Given the description of an element on the screen output the (x, y) to click on. 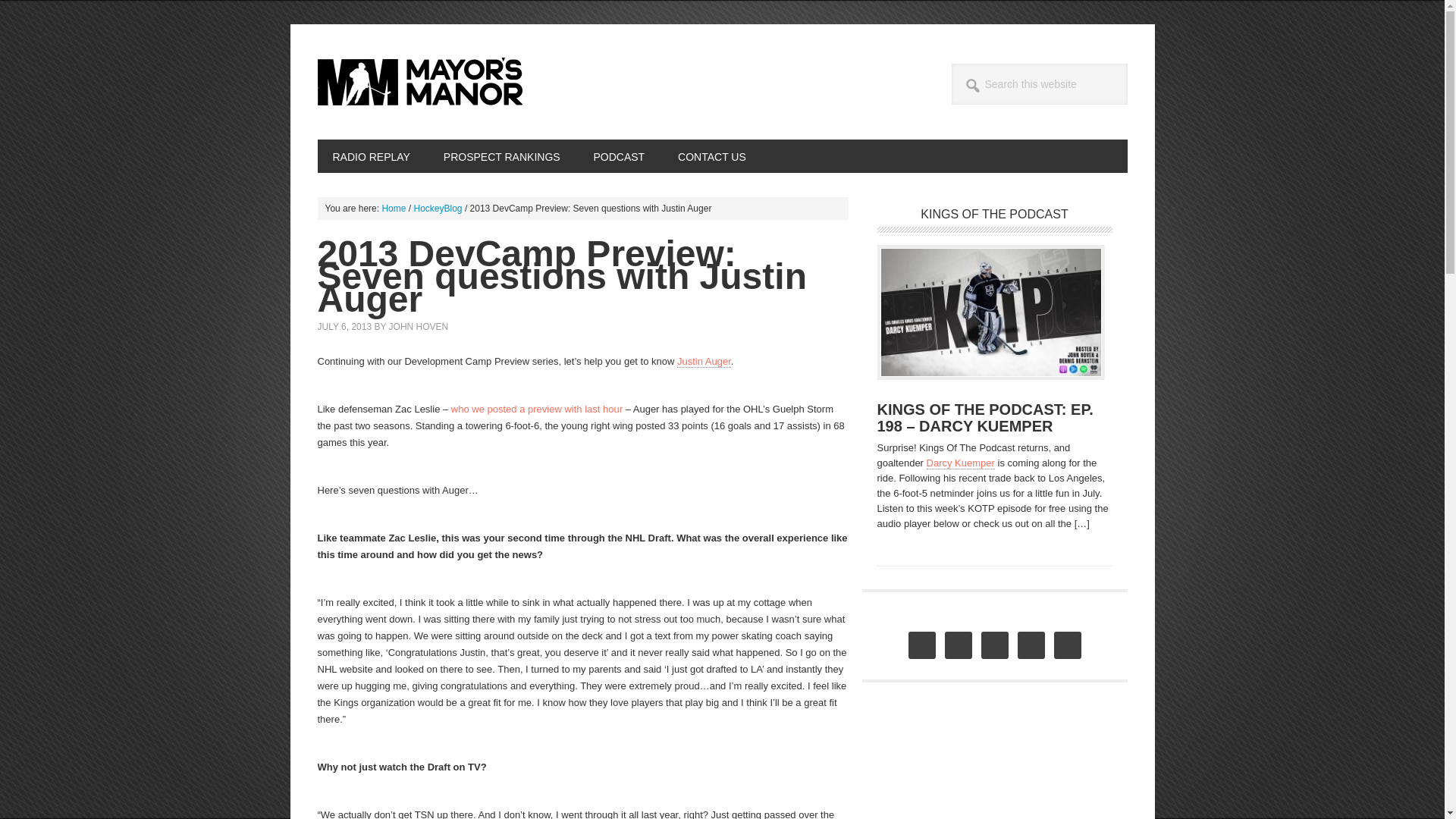
Home (393, 208)
RADIO REPLAY (371, 155)
PODCAST (618, 155)
PROSPECT RANKINGS (501, 155)
Justin Auger (703, 361)
CONTACT US (711, 155)
who we posted a preview with last hour (537, 408)
JOHN HOVEN (418, 326)
HockeyBlog (438, 208)
3rd party ad content (989, 768)
MAYORSMANOR.COM - LA KINGS NEWS (419, 81)
